Given the description of an element on the screen output the (x, y) to click on. 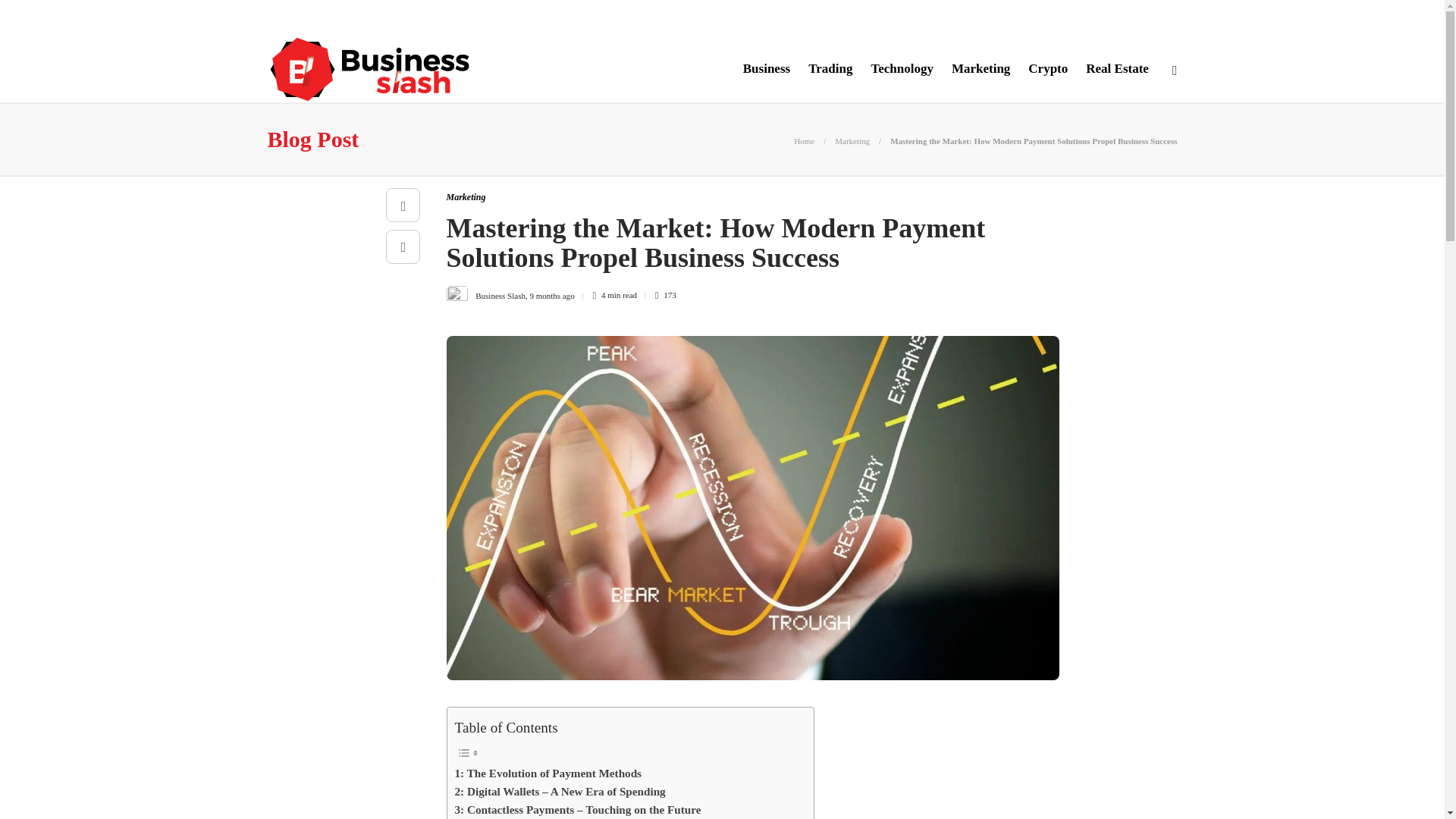
Marketing (851, 140)
Home (803, 140)
1: The Evolution of Payment Methods (548, 773)
Advertise (406, 17)
About Us (292, 17)
9 months ago (551, 294)
Home (803, 140)
Marketing (464, 196)
Technology (901, 68)
Business Slash (500, 294)
Contact Us (482, 17)
Real Estate (1117, 68)
Marketing (981, 68)
